Given the description of an element on the screen output the (x, y) to click on. 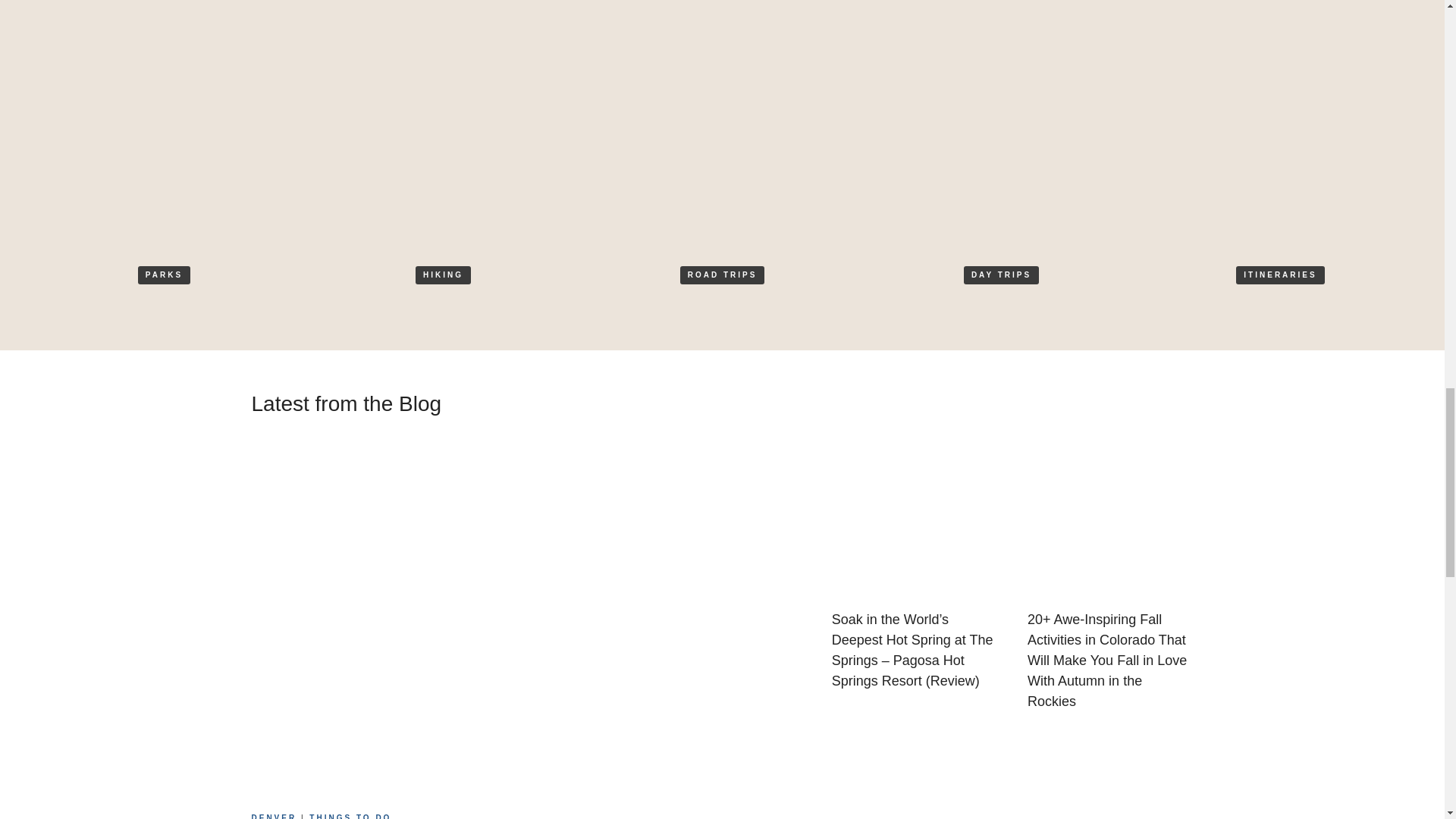
ITINERARIES (1279, 275)
THINGS TO DO (349, 816)
DAY TRIPS (1001, 275)
ROAD TRIPS (722, 275)
HIKING (442, 275)
DENVER (274, 816)
PARKS (164, 275)
